Given the description of an element on the screen output the (x, y) to click on. 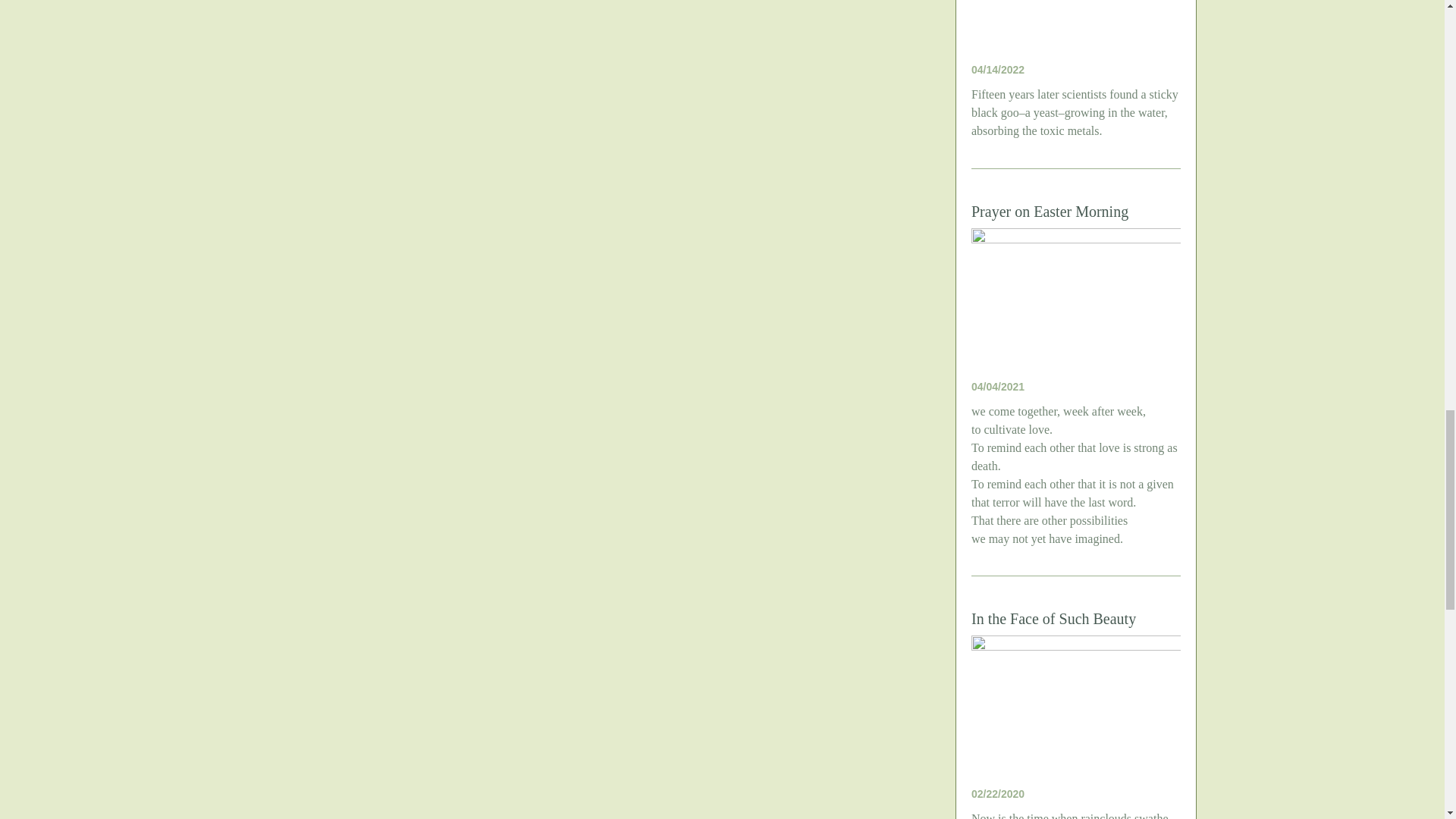
Prayer on Easter Morning (1049, 211)
8:48 pm (998, 793)
1:01 am (998, 69)
9:03 pm (998, 386)
In the Face of Such Beauty (1053, 618)
